Given the description of an element on the screen output the (x, y) to click on. 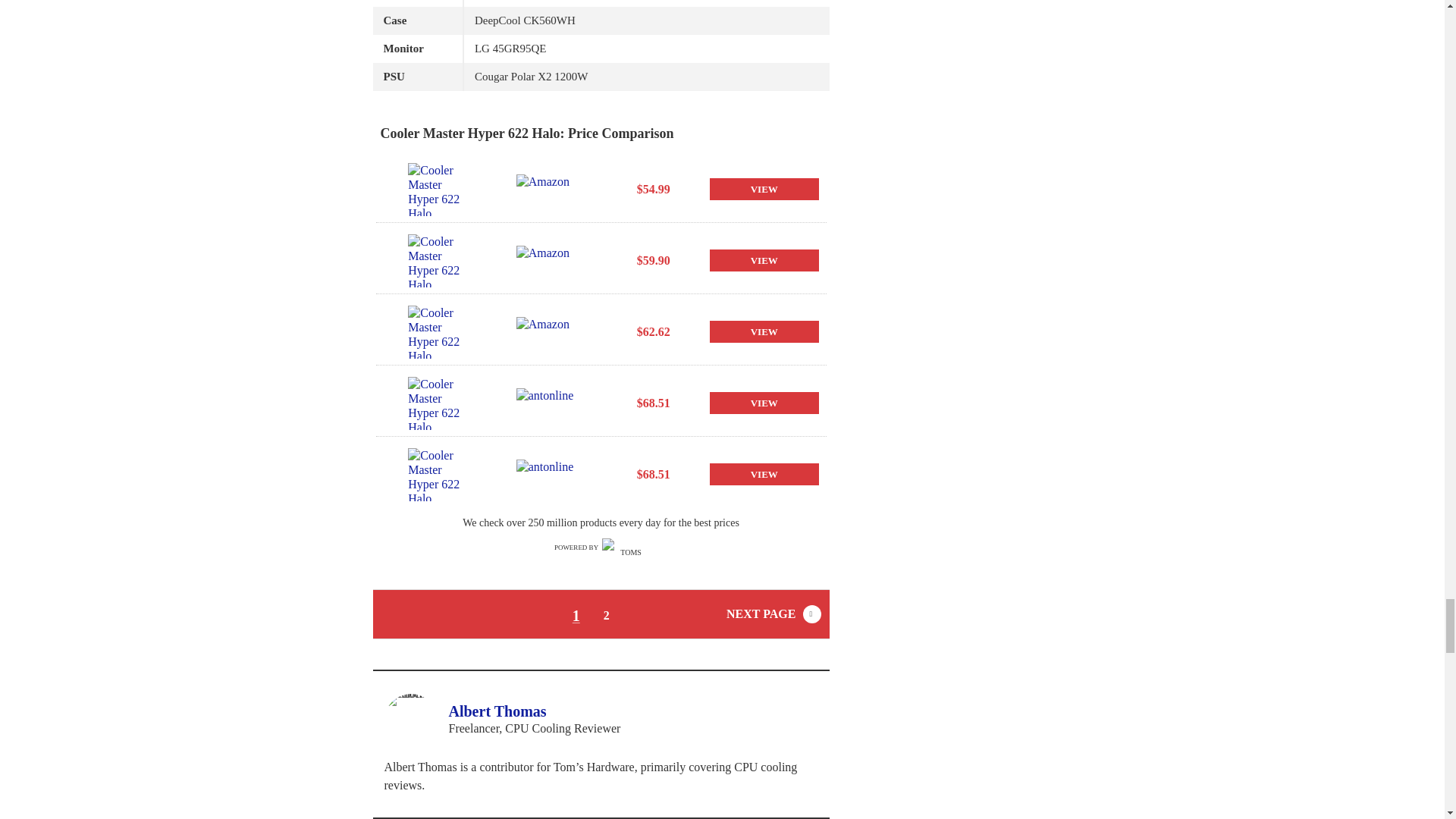
antonline (546, 474)
Cooler Master Hyper 622 Halo... (437, 331)
Cooler Master Hyper 622 Halo... (437, 260)
Toms Hardware (624, 547)
Amazon (546, 260)
Cooler Master Hyper 622 Halo... (437, 189)
Amazon (546, 331)
Cooler Master Hyper 622 Halo... (437, 402)
Amazon (546, 189)
antonline (546, 403)
Cooler Master Hyper 622 Halo... (437, 474)
